Given the description of an element on the screen output the (x, y) to click on. 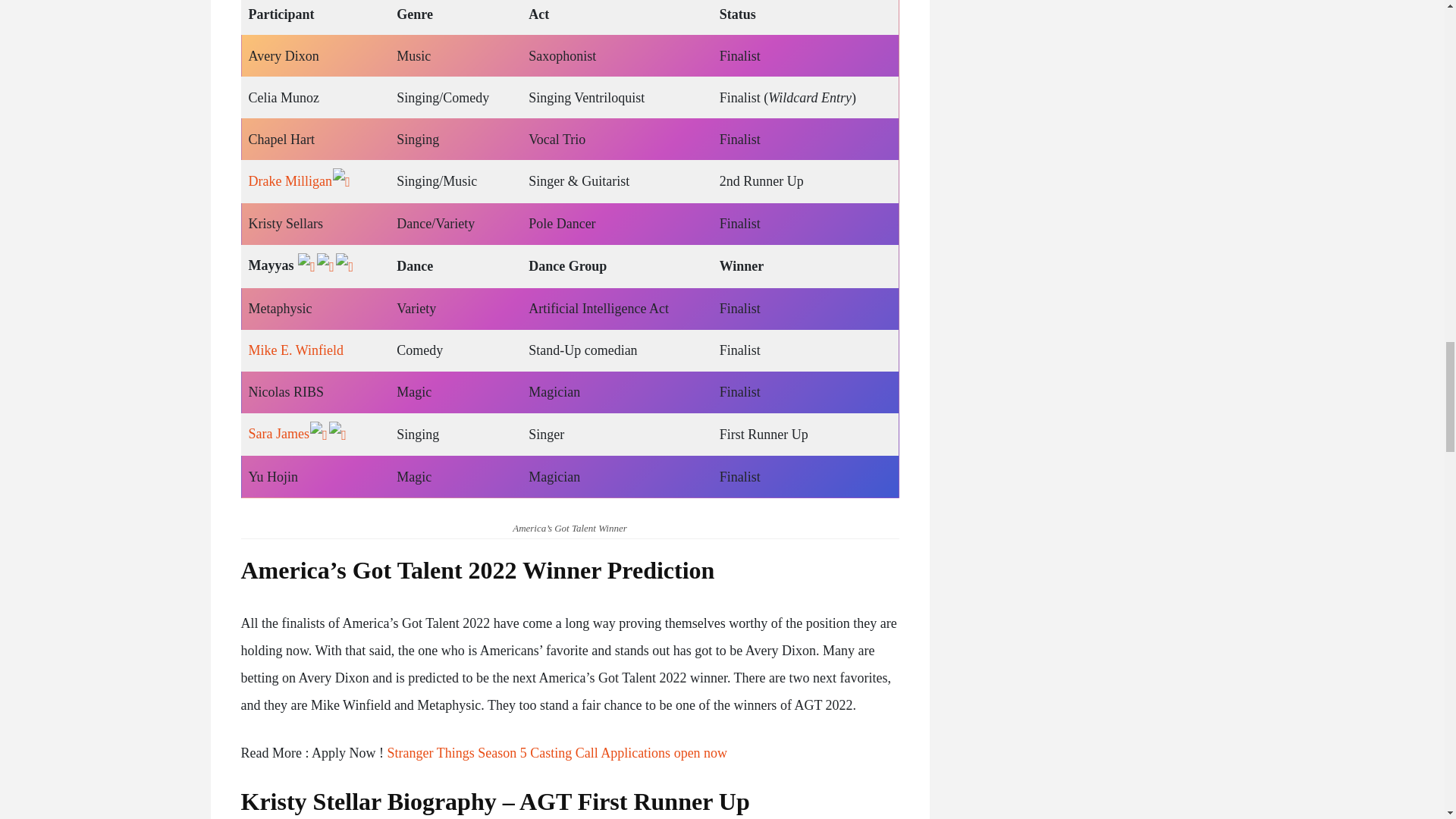
Drake Milligan (289, 534)
Mike E. Winfield (295, 701)
Sara James (278, 784)
